Given the description of an element on the screen output the (x, y) to click on. 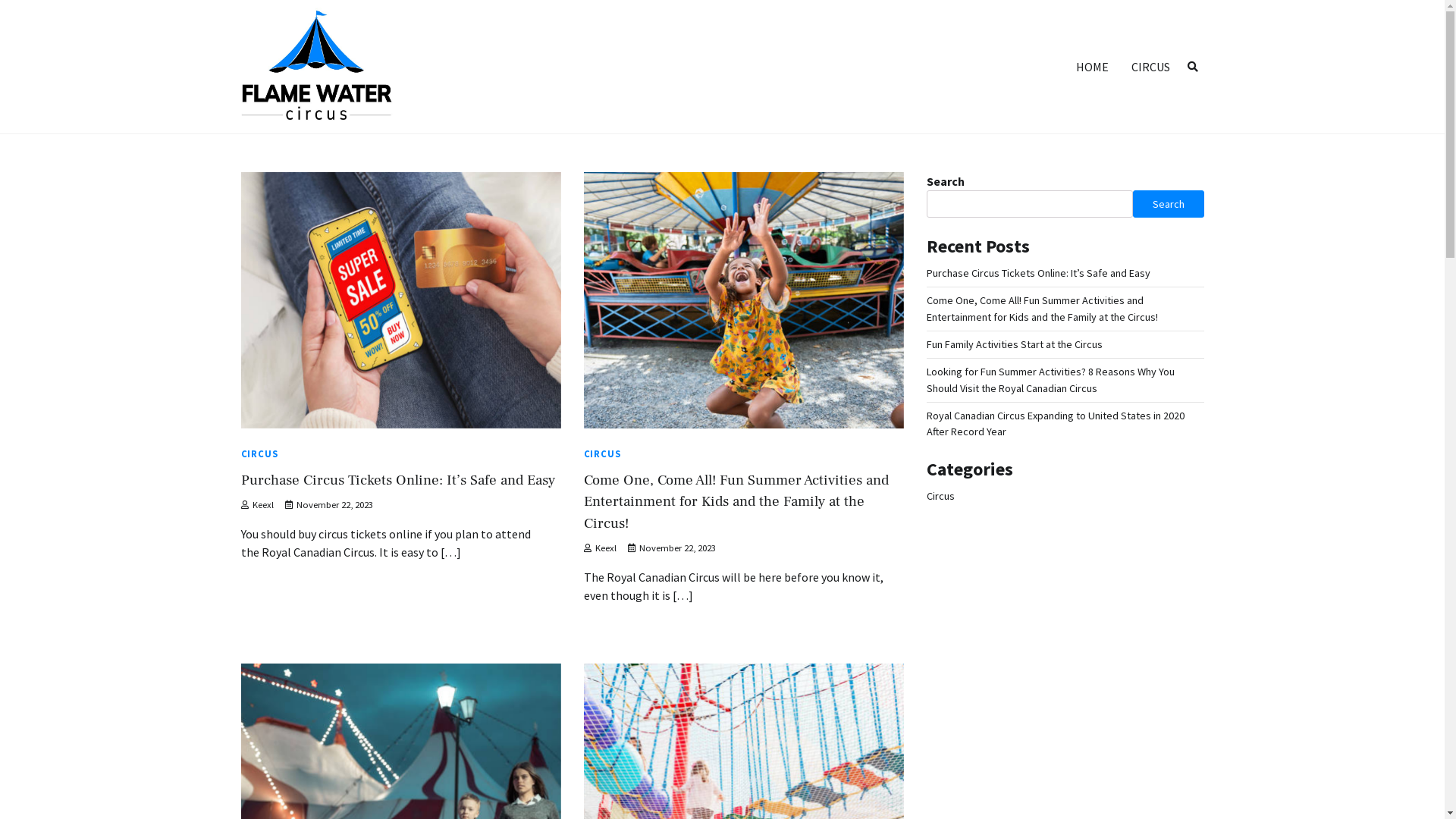
CIRCUS Element type: text (259, 453)
CIRCUS Element type: text (1149, 66)
Search Element type: hover (1192, 66)
Circus Element type: text (940, 495)
CIRCUS Element type: text (602, 453)
Search Element type: text (1168, 203)
Search Element type: text (1164, 102)
Keexl Element type: text (599, 547)
Fun Family Activities Start at the Circus Element type: text (1014, 344)
Keexl Element type: text (257, 504)
HOME Element type: text (1092, 66)
